Given the description of an element on the screen output the (x, y) to click on. 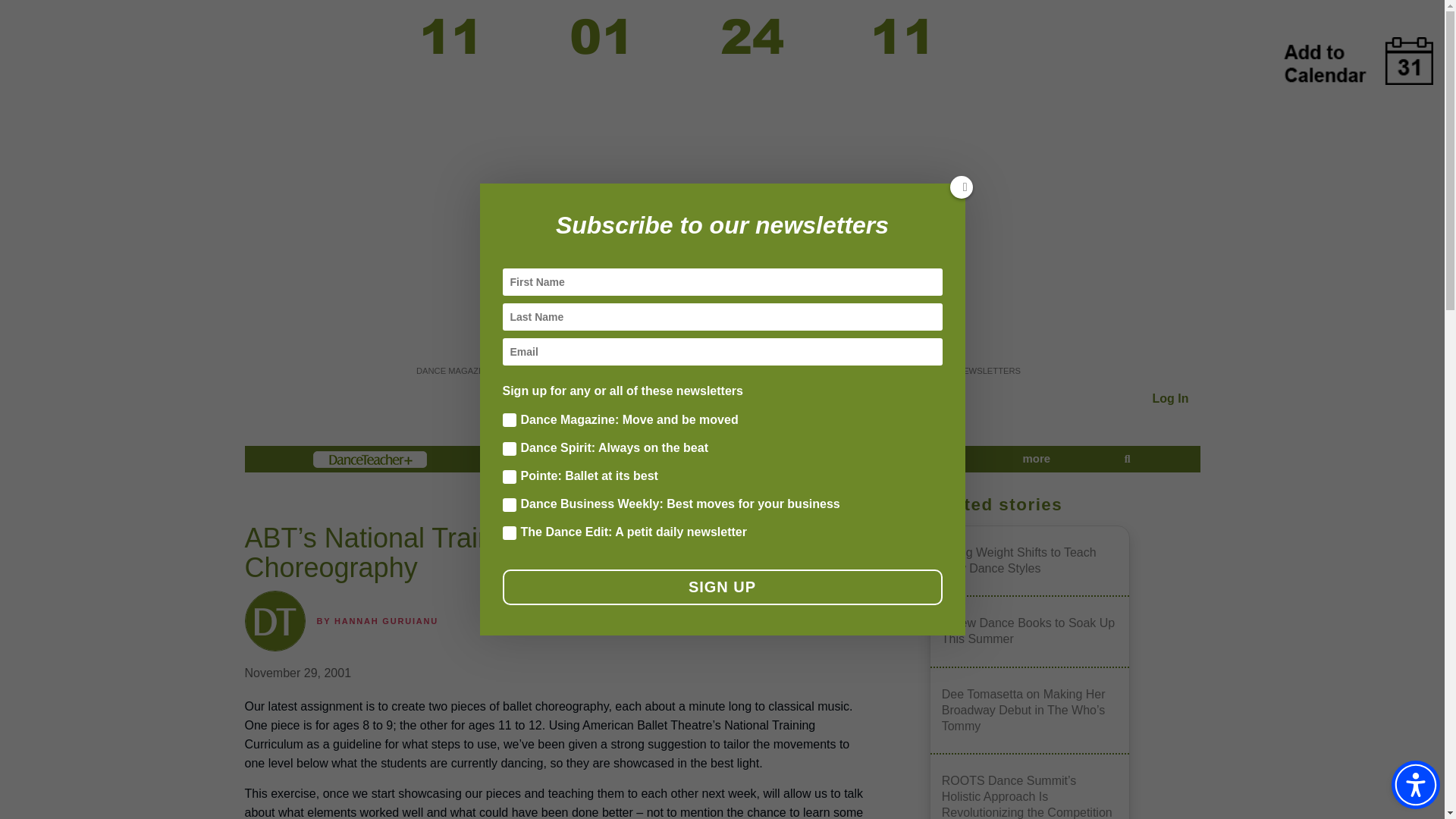
DANCE MAGAZINE (454, 370)
news (779, 458)
Share on Facebook (633, 507)
Share on LinkedIn (764, 507)
more (1035, 458)
DANCE SPIRIT (635, 370)
Share on Twitter (676, 507)
calendar (523, 458)
Print article (853, 507)
NEWSLETTERS (988, 370)
teaching tips (656, 458)
teacher stories (908, 458)
Accessibility Menu (1415, 784)
Members Login (1171, 398)
